Given the description of an element on the screen output the (x, y) to click on. 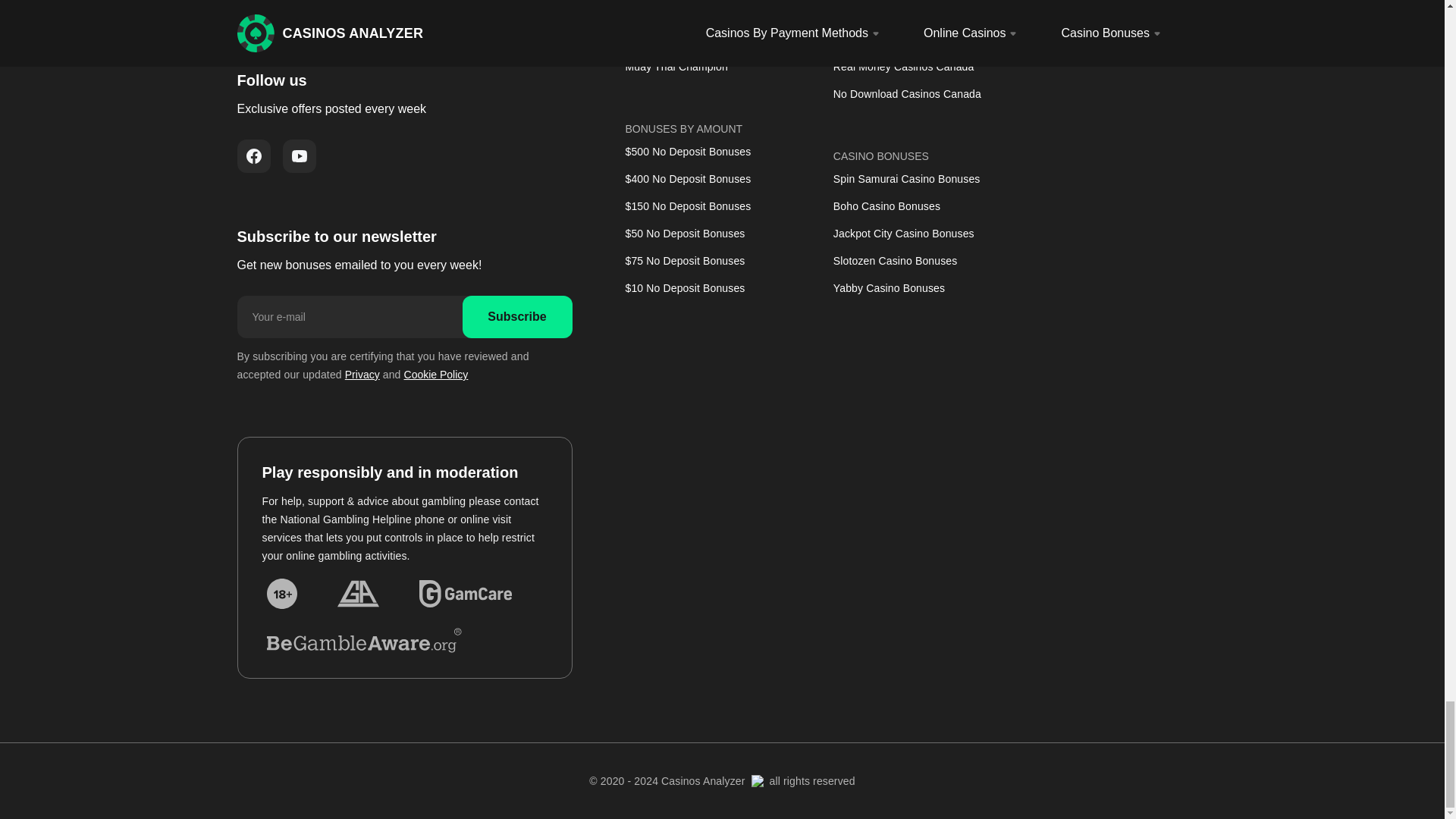
Subscribe (517, 316)
